Given the description of an element on the screen output the (x, y) to click on. 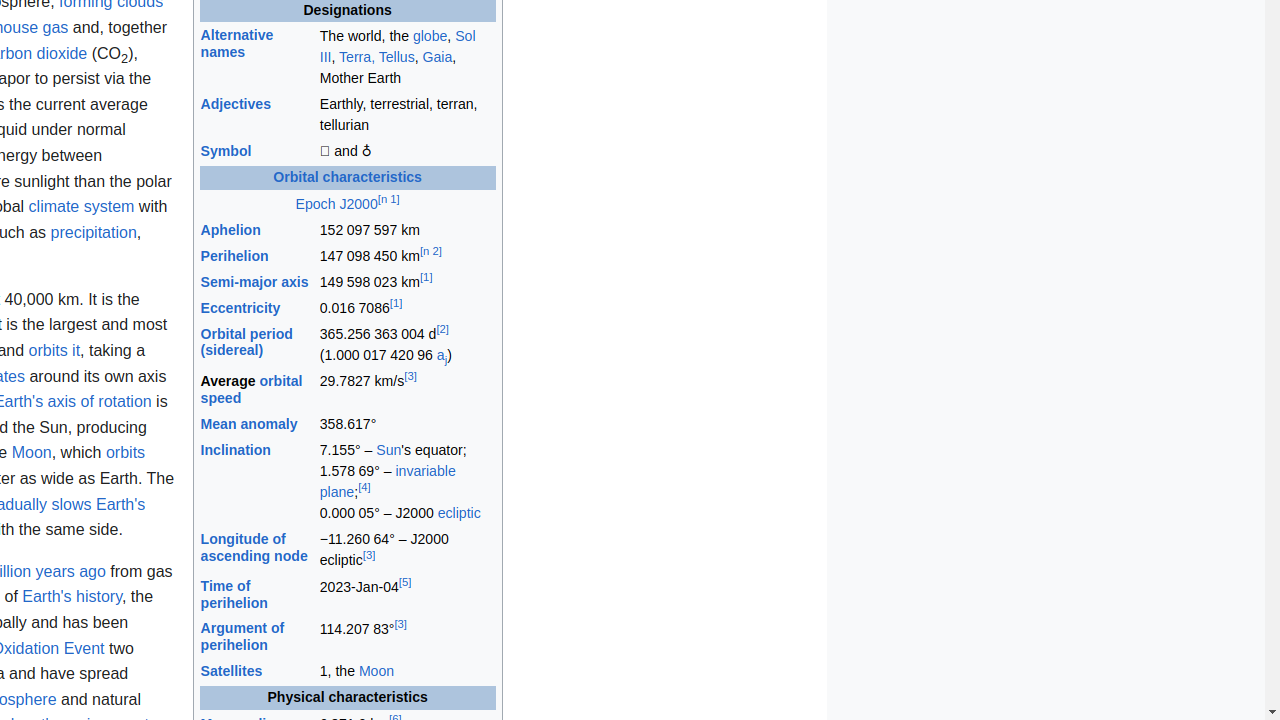
147098450 km[n 2] Element type: table-cell (407, 256)
−11.26064° – J2000 ecliptic[3] Element type: table-cell (407, 550)
Adjectives Element type: link (235, 104)
globe Element type: link (430, 35)
Time of perihelion Element type: link (234, 594)
